Given the description of an element on the screen output the (x, y) to click on. 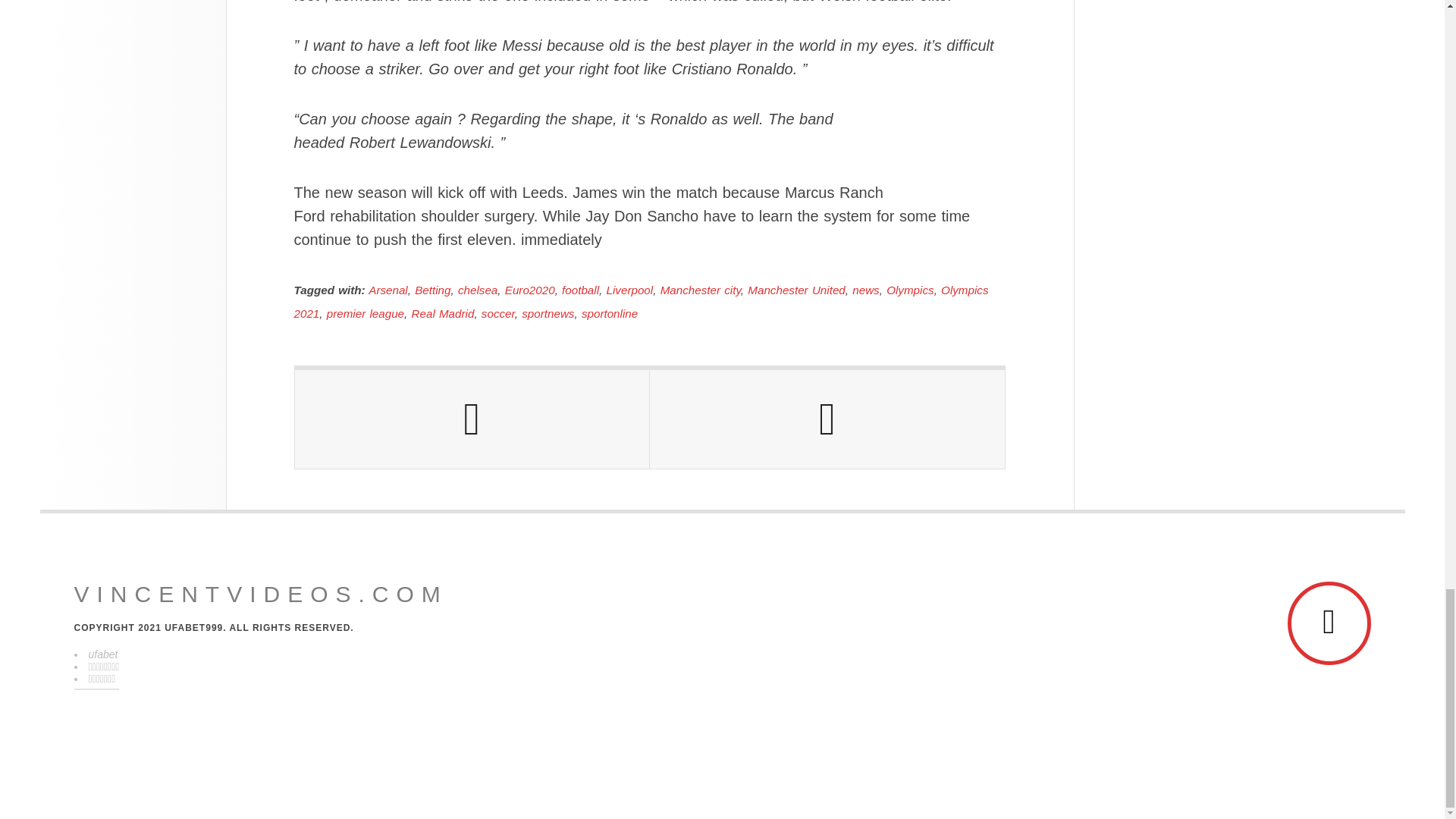
Real Madrid (443, 313)
Olympics 2021 (641, 301)
premier league (365, 313)
Olympics (909, 289)
news (865, 289)
sportnews (547, 313)
vincentvideos.com (261, 594)
Next Post (826, 419)
Manchester United (796, 289)
Arsenal (387, 289)
